Given the description of an element on the screen output the (x, y) to click on. 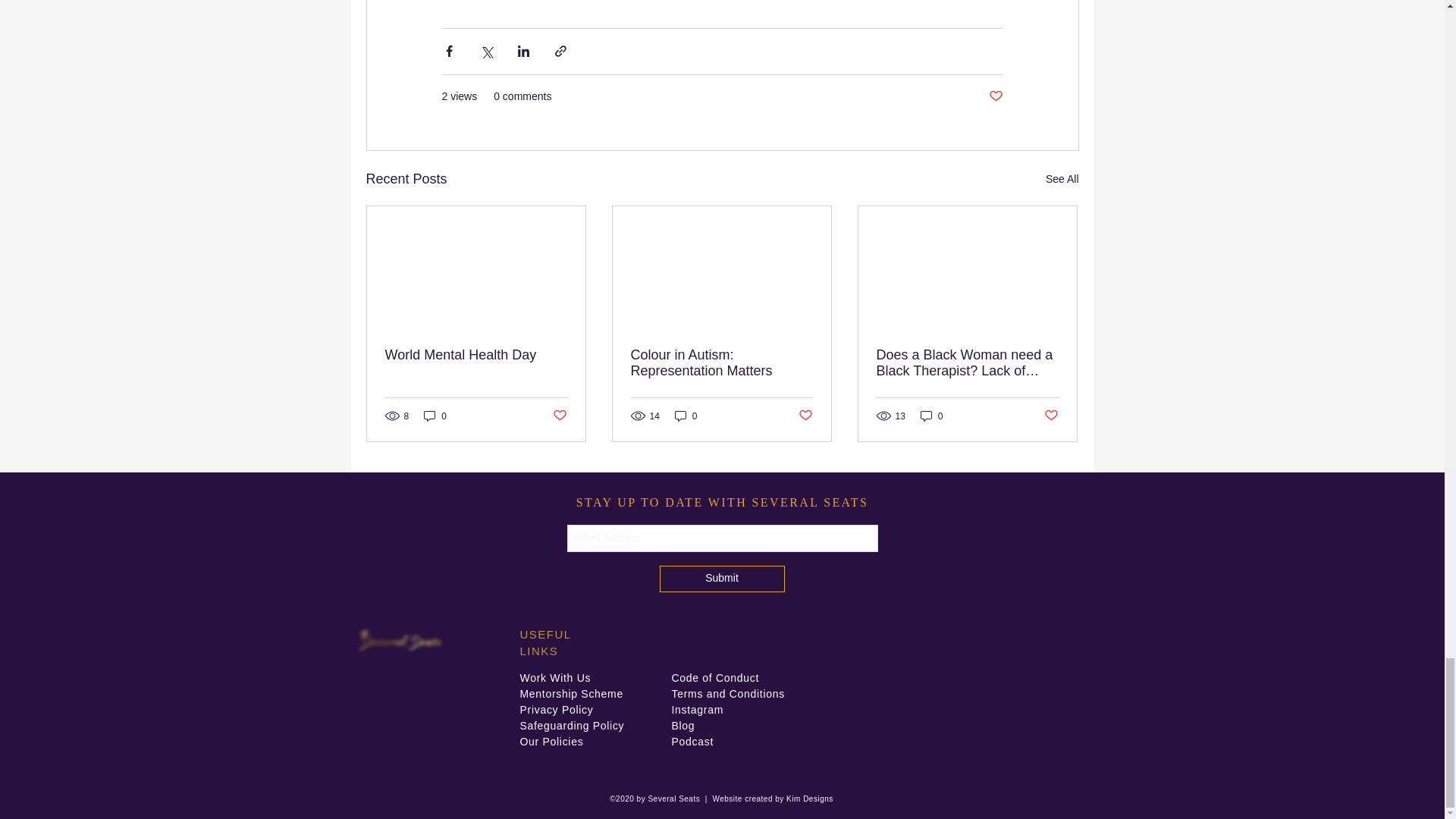
Safeguarding Policy (571, 725)
Post not marked as liked (995, 96)
Colour in Autism: Representation Matters (721, 363)
0 (435, 415)
0 (685, 415)
Mentorship Scheme (571, 693)
0 (931, 415)
Post not marked as liked (804, 415)
Privacy Policy (556, 709)
